Given the description of an element on the screen output the (x, y) to click on. 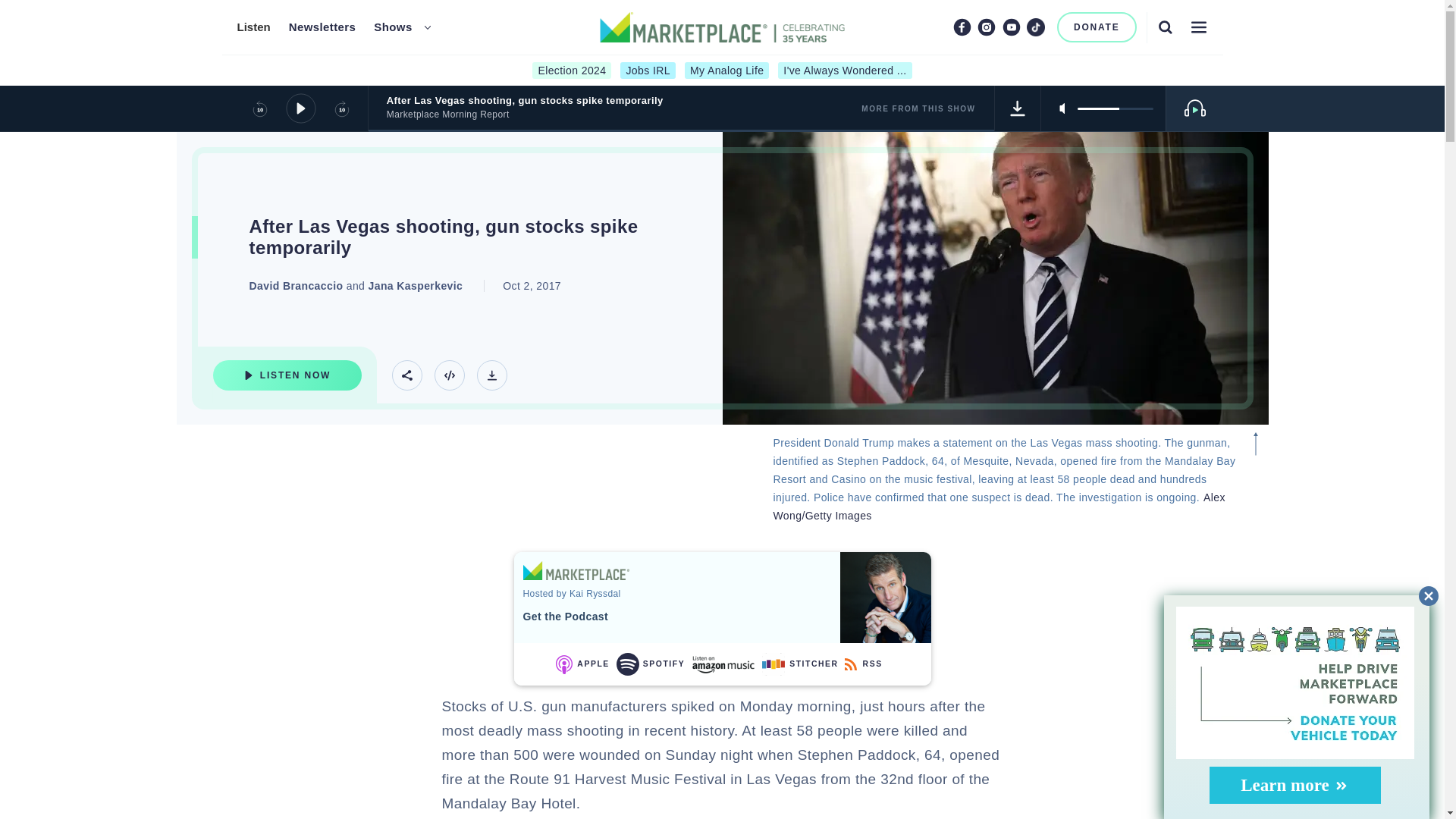
Download Track (1017, 108)
Youtube (1011, 27)
Marketplace (575, 570)
Listen Now (286, 374)
Menu (1198, 27)
Shows (393, 26)
Download Track (491, 374)
5 (1115, 108)
Instagram (985, 27)
Listen (252, 26)
Facebook (962, 27)
DONATE (1097, 27)
TikTok (1035, 27)
volume (1115, 108)
